Given the description of an element on the screen output the (x, y) to click on. 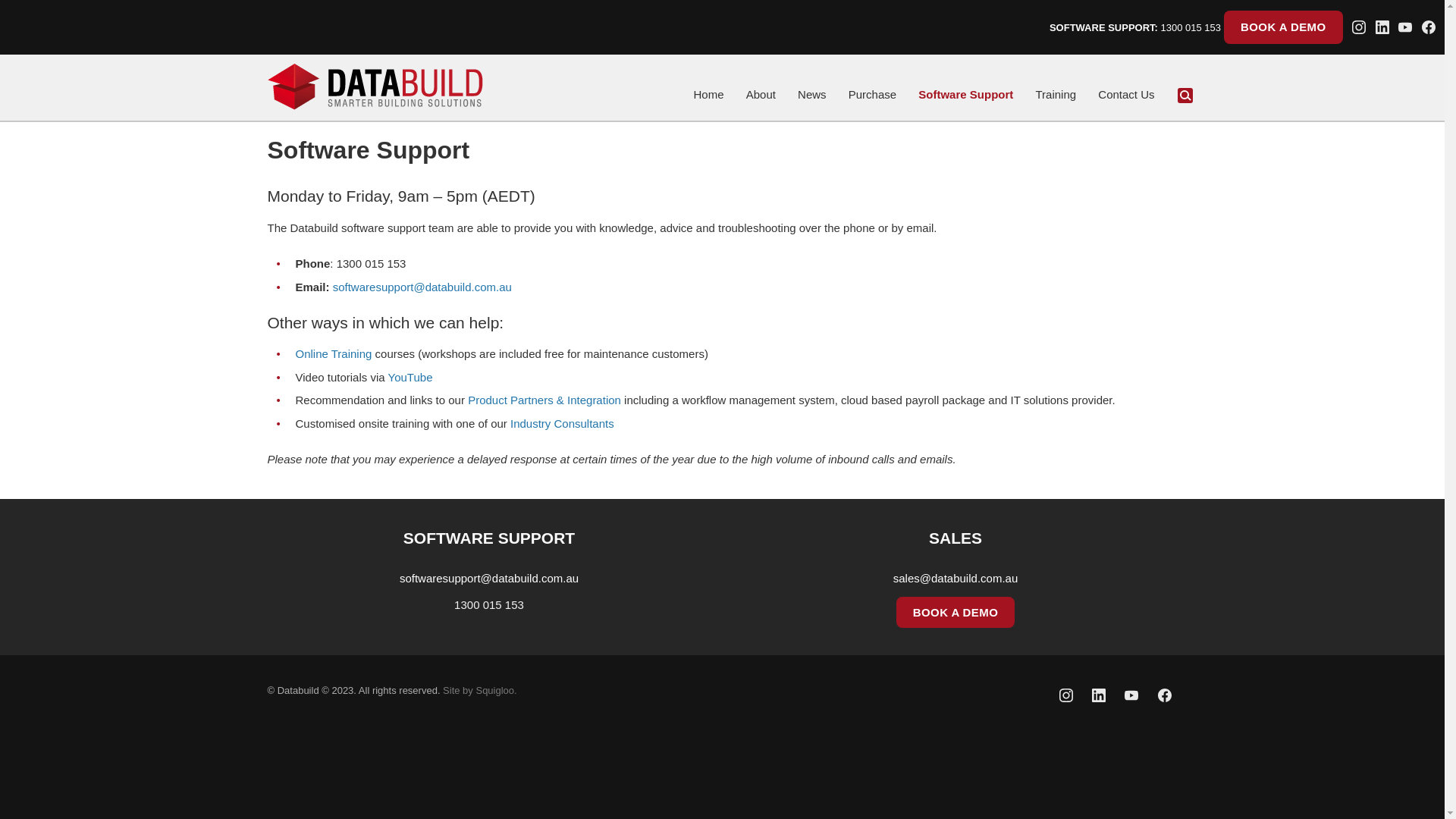
Industry Consultants Element type: text (562, 423)
Home Element type: text (708, 94)
About Element type: text (760, 94)
Purchase Element type: text (872, 94)
Skip to content Element type: text (711, 92)
Training Element type: text (1055, 94)
softwaresupport@databuild.com.au Element type: text (421, 286)
Software Support Element type: text (965, 94)
Online Training Element type: text (333, 353)
softwaresupport@databuild.com.au Element type: text (488, 577)
YouTube Element type: text (410, 376)
BOOK A DEMO Element type: text (955, 611)
Site by Squigloo. Element type: text (479, 690)
News Element type: text (811, 94)
SOFTWARE SUPPORT: 1300 015 153 Element type: text (1134, 27)
BOOK A DEMO Element type: text (1282, 26)
Product Partners & Integration Element type: text (544, 399)
Contact Us Element type: text (1126, 94)
sales@databuild.com.au Element type: text (955, 577)
